Given the description of an element on the screen output the (x, y) to click on. 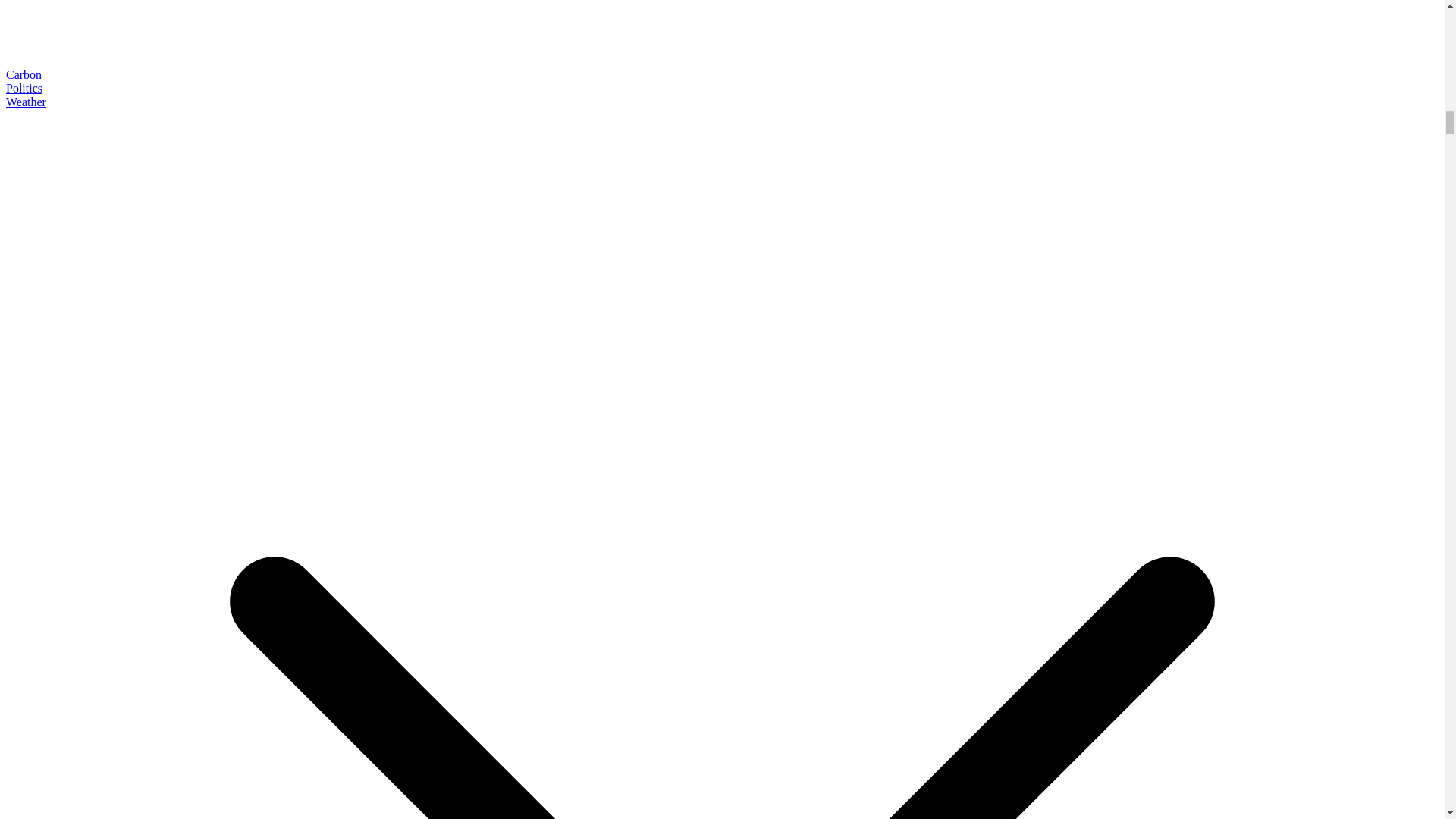
Weather (25, 101)
Carbon (23, 74)
Politics (23, 88)
